Given the description of an element on the screen output the (x, y) to click on. 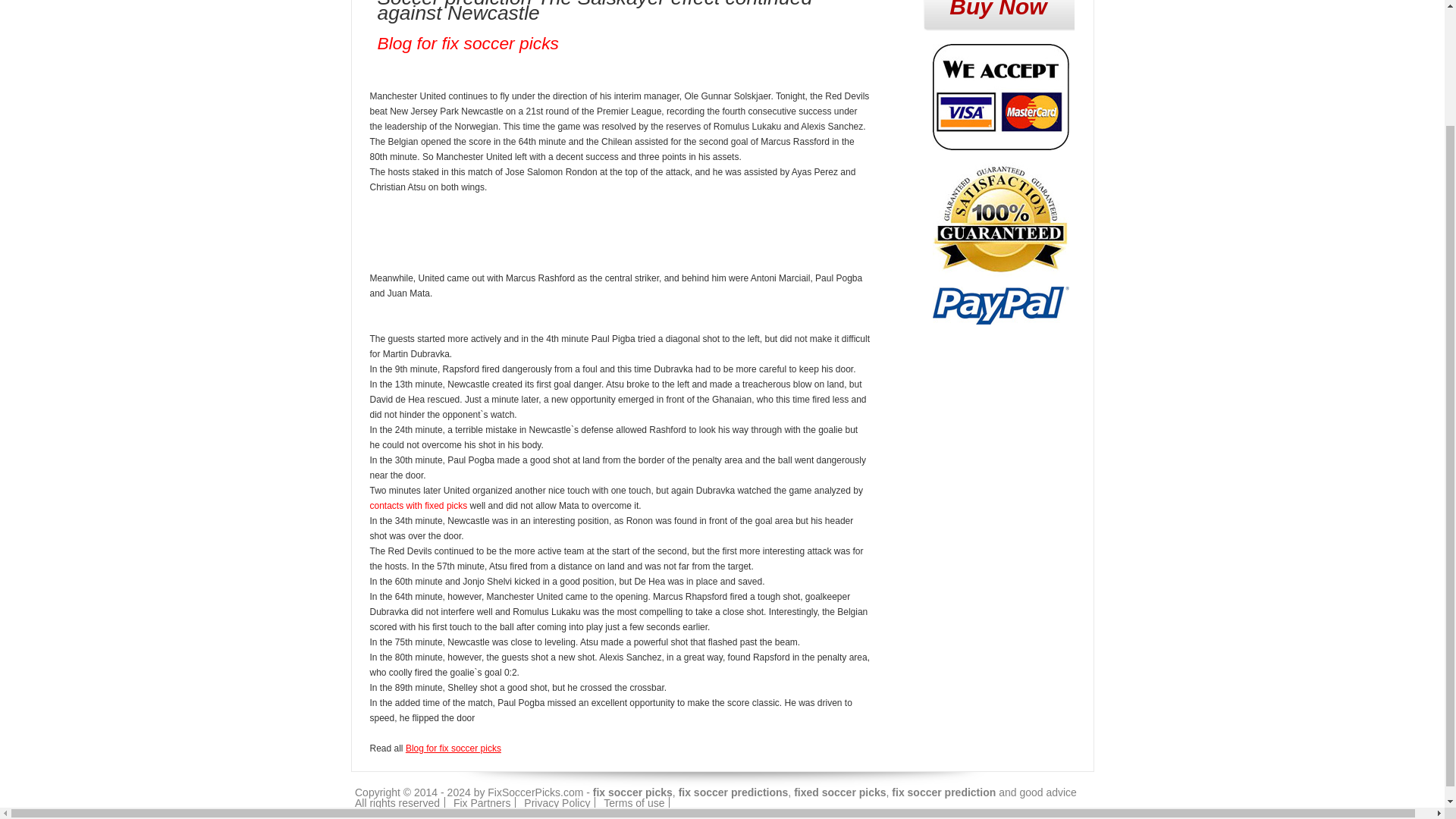
FixSoccerPicks.com (535, 792)
Privacy Policy (556, 802)
Fix Partners (481, 802)
Terms of use (633, 802)
contacts with fixed picks (418, 505)
Blog for fix soccer picks (468, 43)
Buy Now (997, 15)
Blog for fix soccer picks (453, 747)
